Given the description of an element on the screen output the (x, y) to click on. 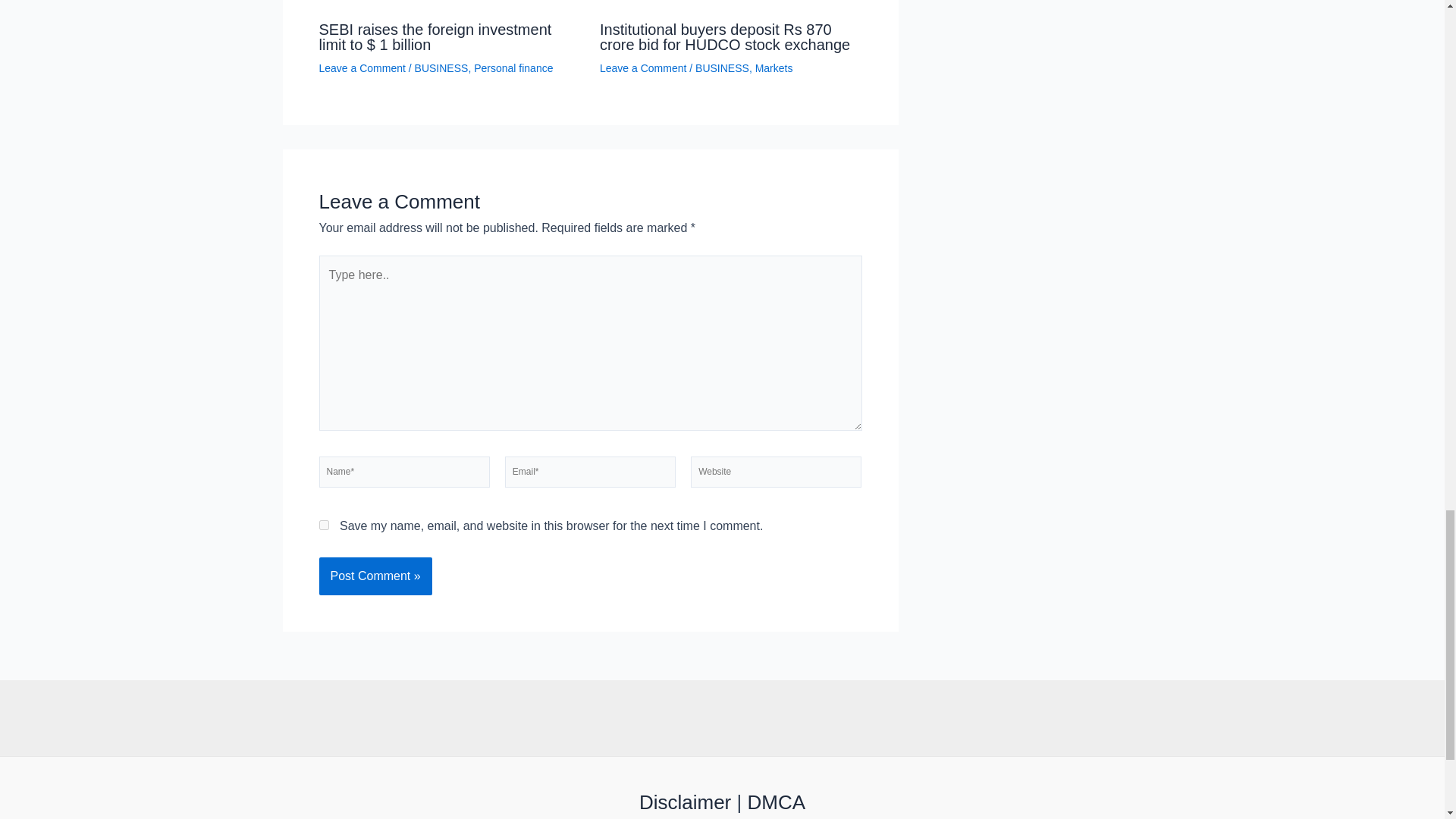
yes (323, 524)
